Given the description of an element on the screen output the (x, y) to click on. 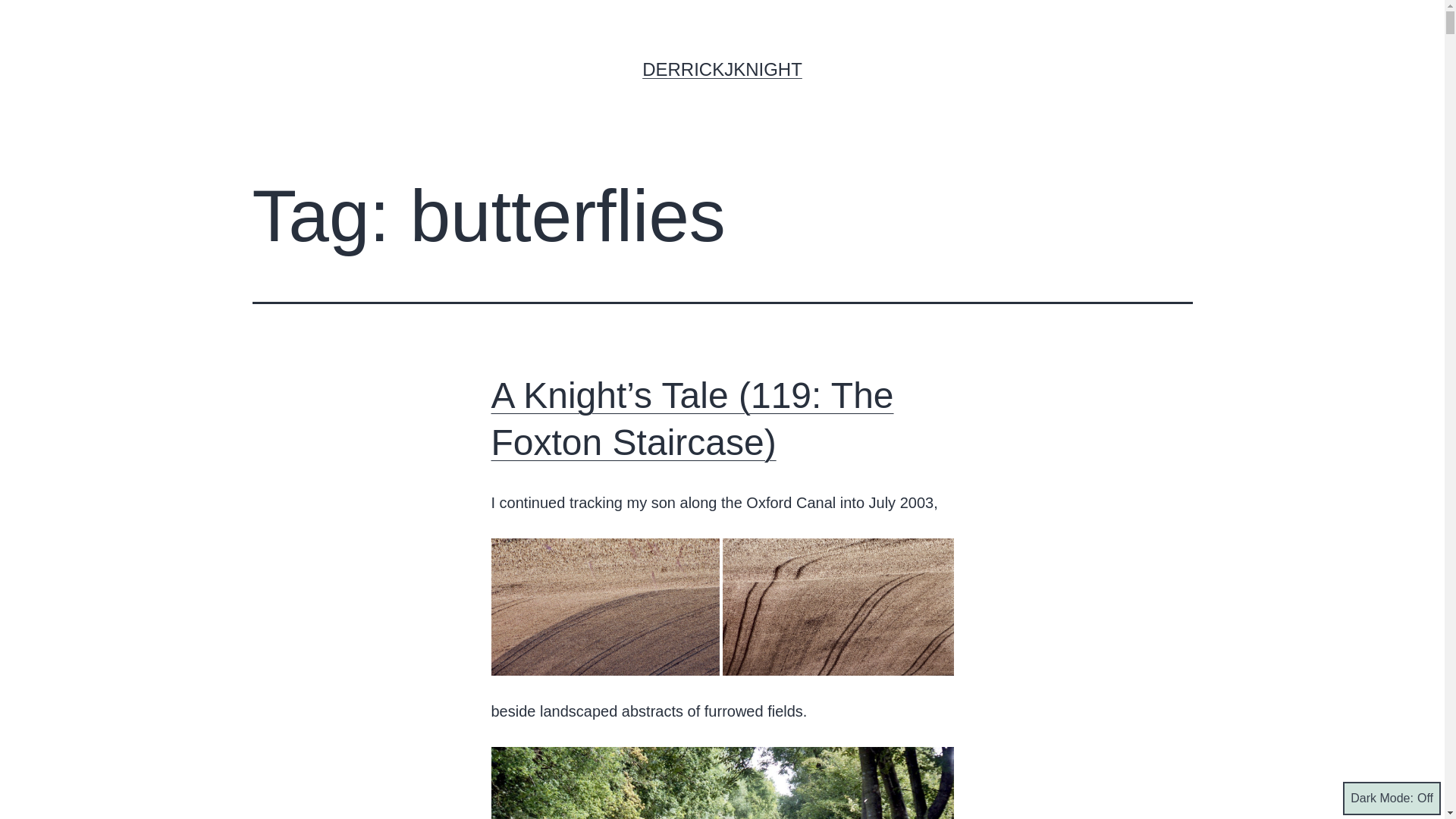
DERRICKJKNIGHT (722, 68)
